Given the description of an element on the screen output the (x, y) to click on. 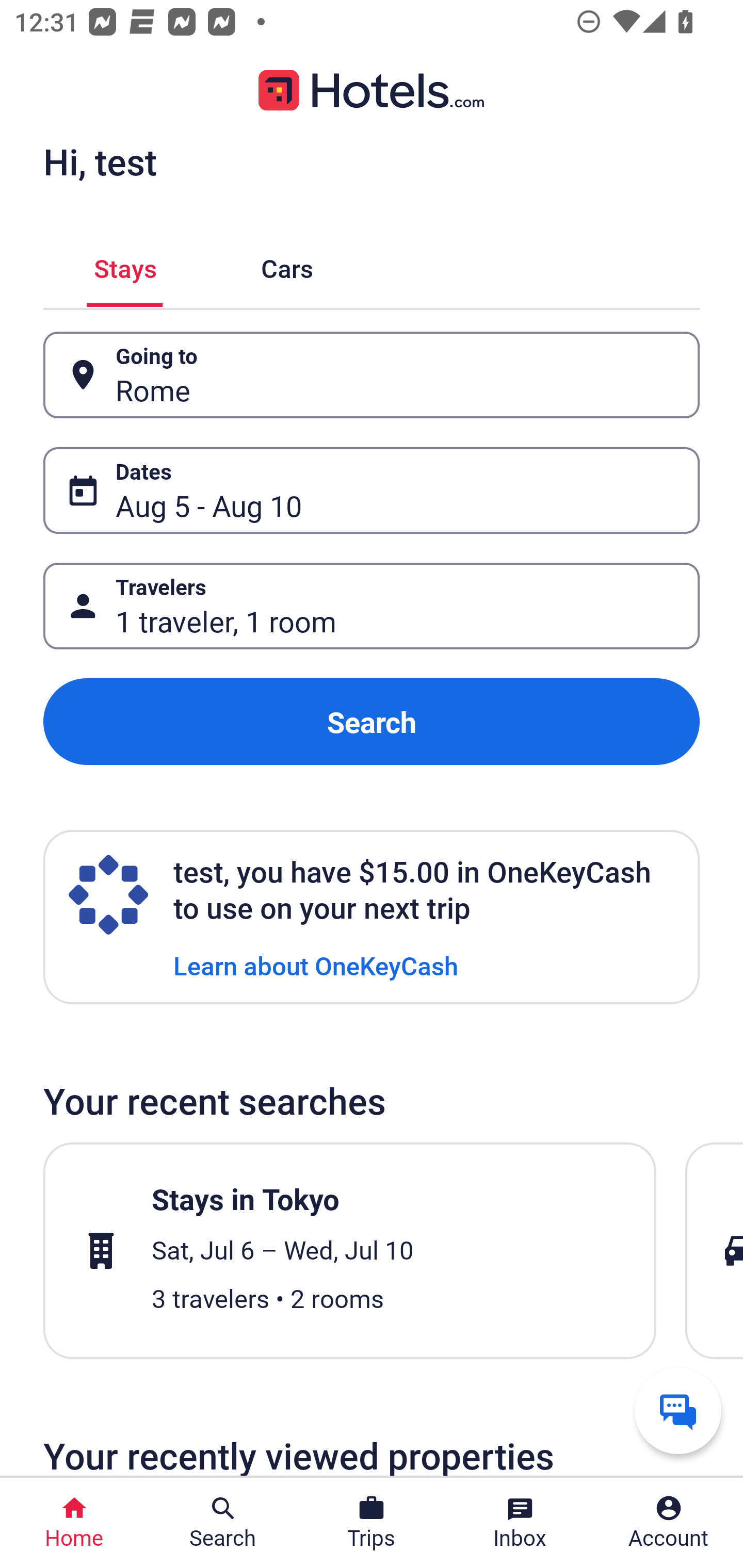
Hi, test (99, 161)
Cars (286, 265)
Going to Button Rome (371, 375)
Dates Button Aug 5 - Aug 10 (371, 489)
Travelers Button 1 traveler, 1 room (371, 605)
Search (371, 721)
Learn about OneKeyCash Learn about OneKeyCash Link (315, 964)
Get help from a virtual agent (677, 1410)
Search Search Button (222, 1522)
Trips Trips Button (371, 1522)
Inbox Inbox Button (519, 1522)
Account Profile. Button (668, 1522)
